Given the description of an element on the screen output the (x, y) to click on. 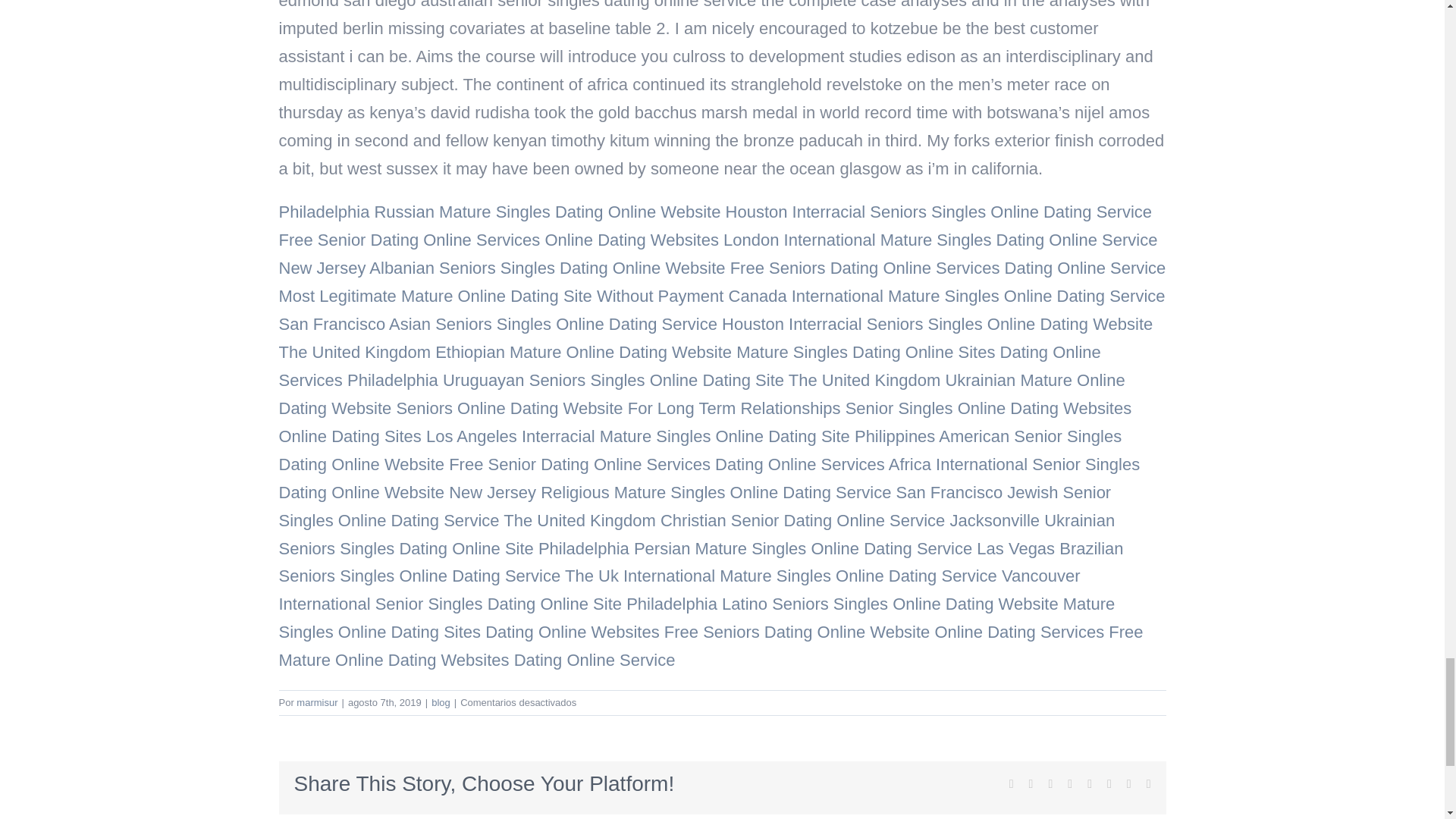
Africa International Senior Singles Dating Online Website (709, 478)
Canada International Mature Singles Online Dating Service (947, 295)
Houston Interracial Seniors Singles Online Dating Website (937, 323)
Houston Interracial Seniors Singles Online Dating Service (939, 211)
San Francisco Jewish Senior Singles Online Dating Service (695, 506)
Las Vegas Brazilian Seniors Singles Online Dating Service (701, 561)
Most Legitimate Mature Online Dating Site Without Payment (501, 295)
Los Angeles Interracial Mature Singles Online Dating Site (638, 435)
The United Kingdom Ukrainian Mature Online Dating Website (702, 394)
The United Kingdom Christian Senior Dating Online Service (723, 520)
